Given the description of an element on the screen output the (x, y) to click on. 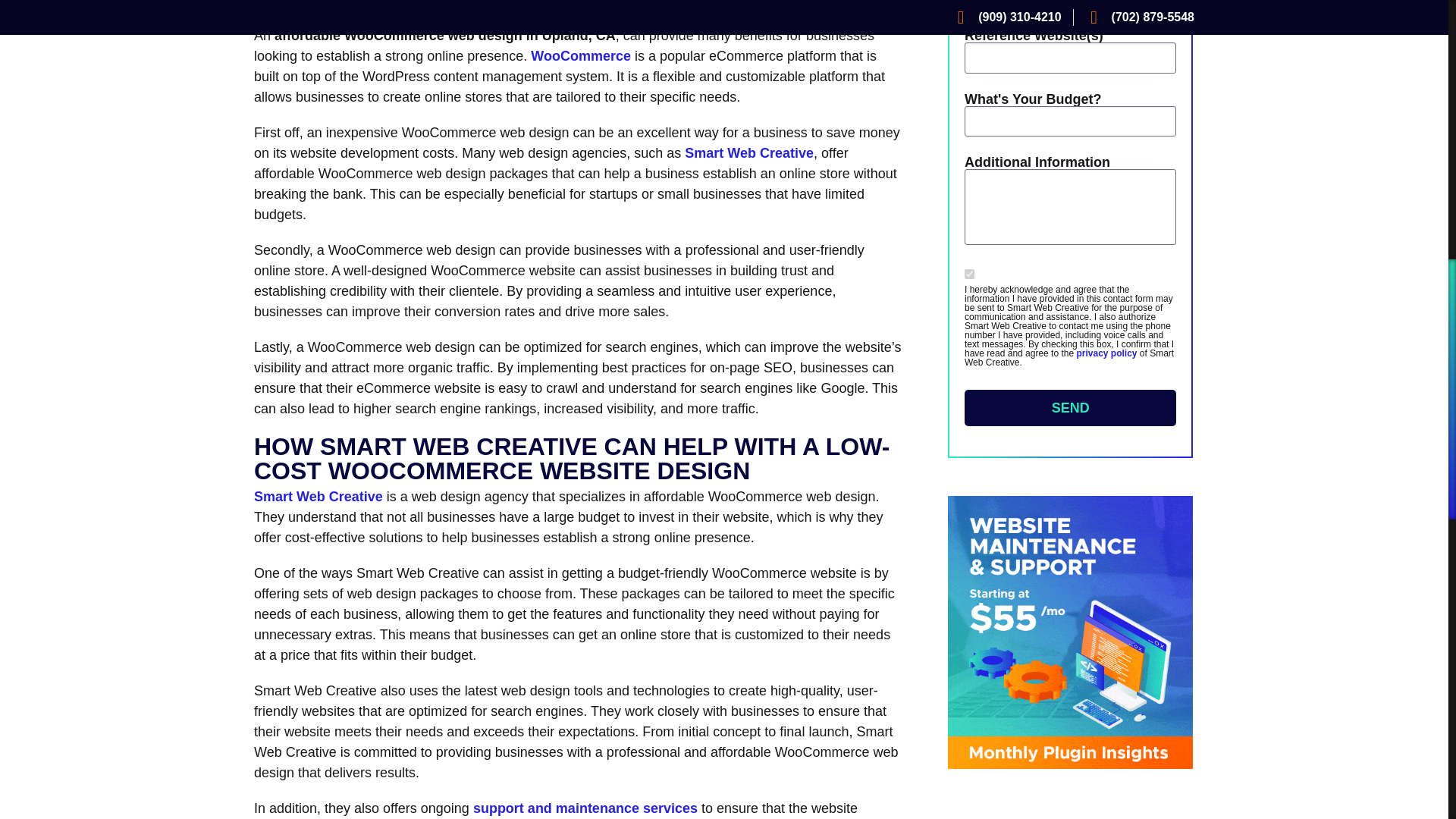
Other (968, 3)
on (968, 274)
